Given the description of an element on the screen output the (x, y) to click on. 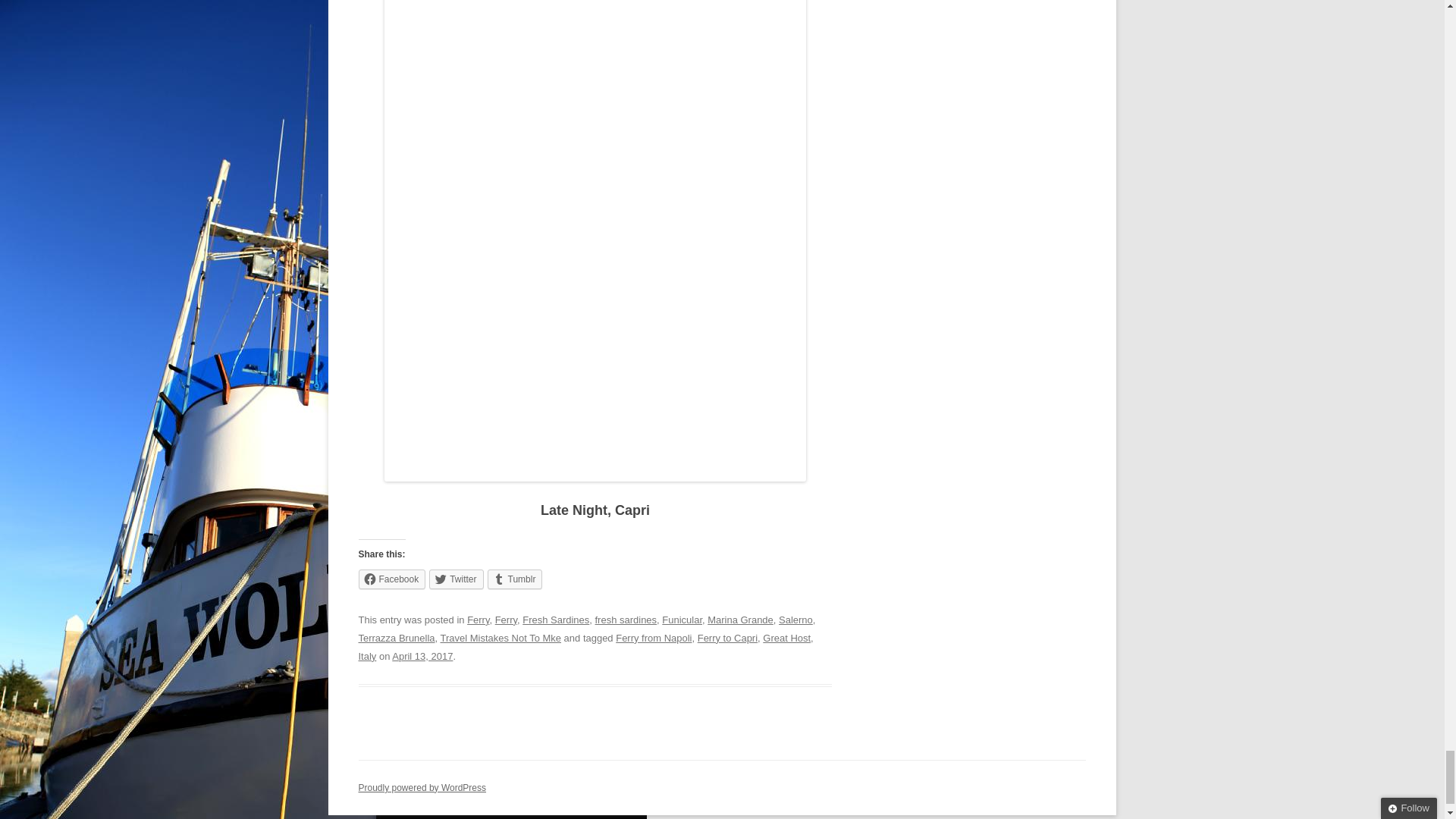
Facebook (391, 578)
fresh sardines (626, 619)
Ferry (478, 619)
Fresh Sardines (555, 619)
Ferry (505, 619)
Tumblr (515, 578)
Twitter (456, 578)
